Given the description of an element on the screen output the (x, y) to click on. 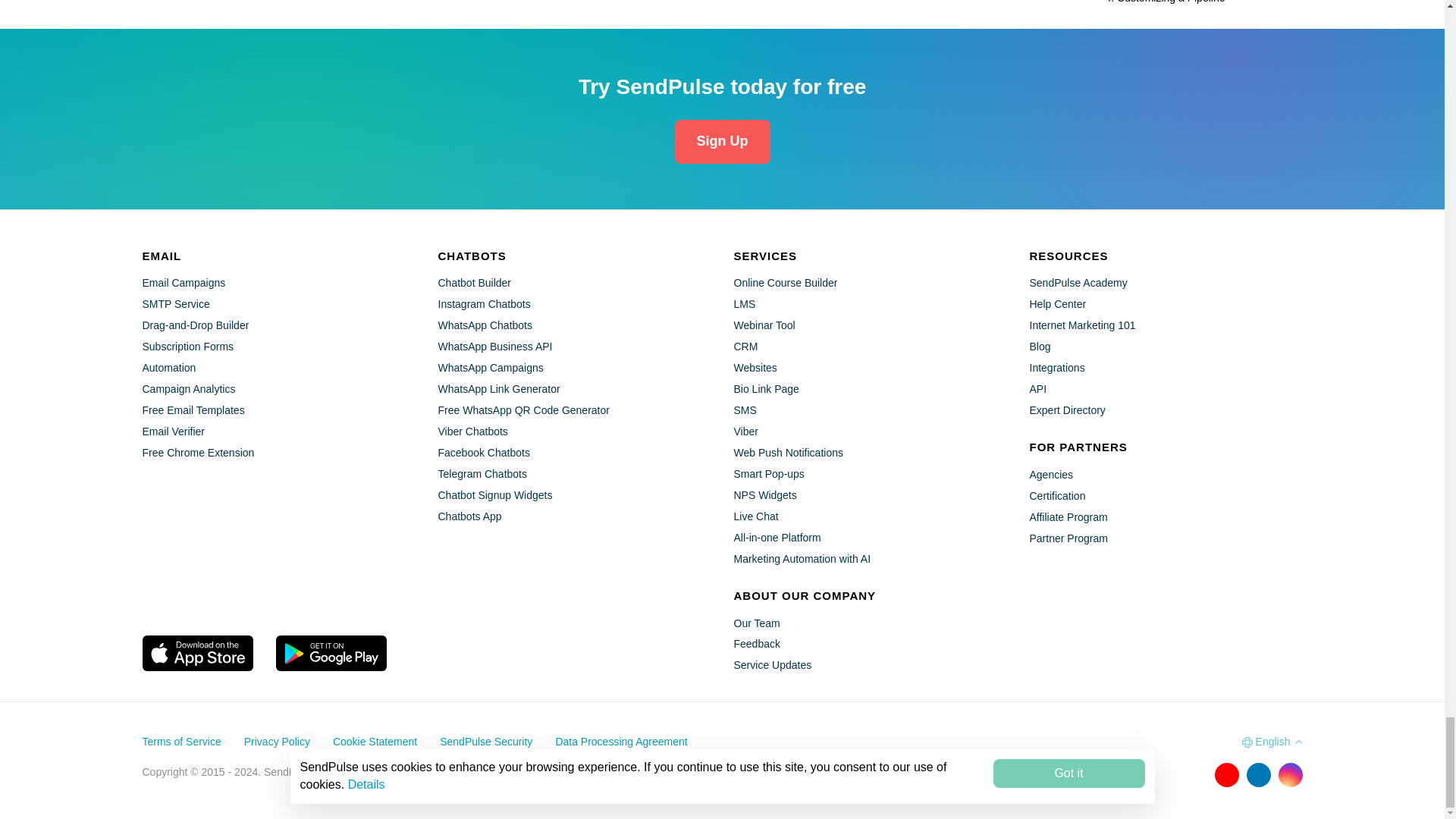
Join us on Facebook (1162, 774)
Follow us on Instagram (1290, 774)
Follow us on Twitter (1194, 774)
Watch us on YouTube (1226, 774)
Connect with us on LinkedIn (1258, 774)
